Given the description of an element on the screen output the (x, y) to click on. 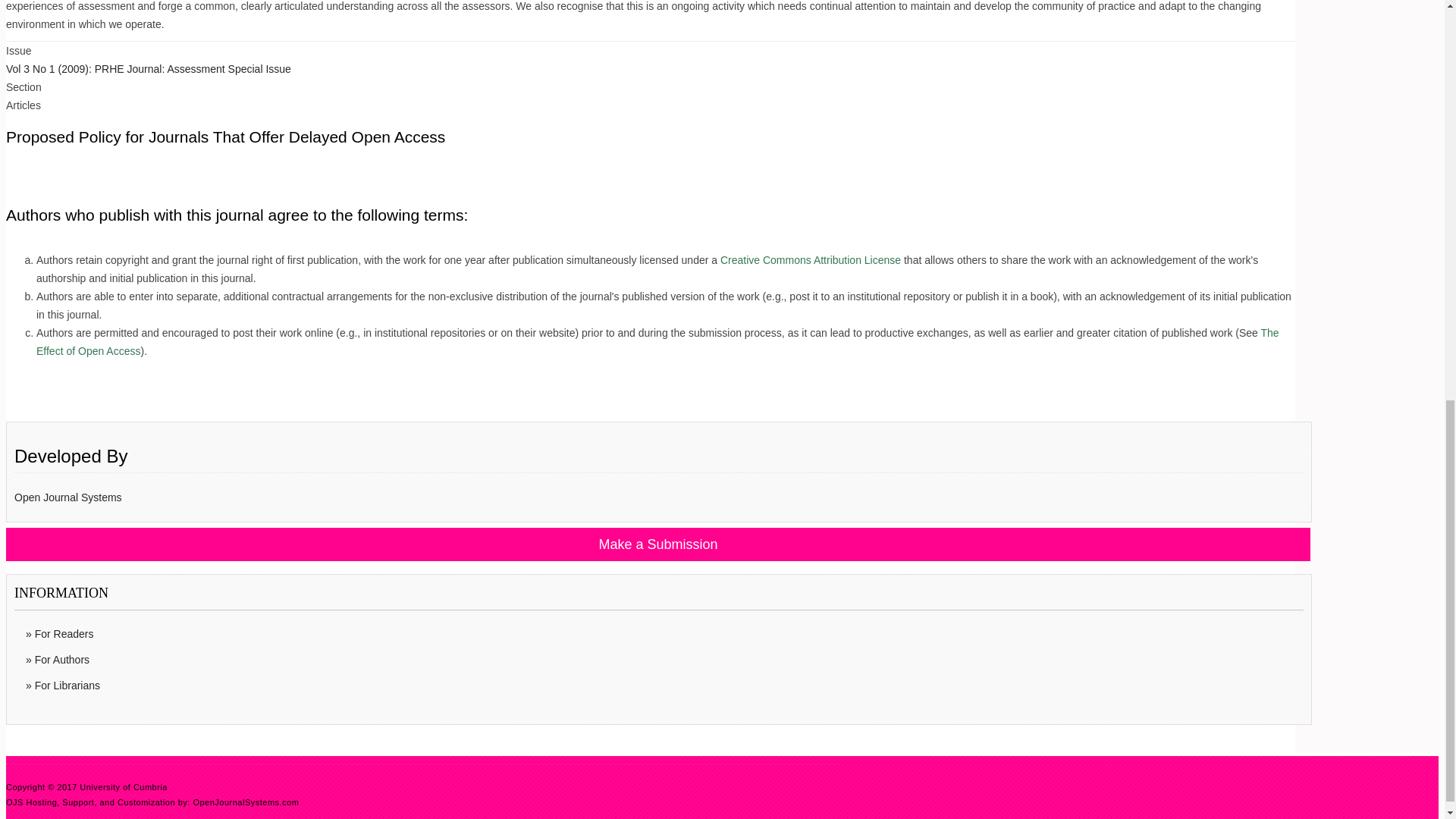
The Effect of Open Access (657, 341)
For Librarians (662, 685)
For Authors (662, 659)
Make a Submission (657, 544)
Creative Commons Attribution License (810, 259)
Open Journal Systems (68, 497)
OpenJournalSystems.com (245, 801)
For Readers (662, 633)
